Given the description of an element on the screen output the (x, y) to click on. 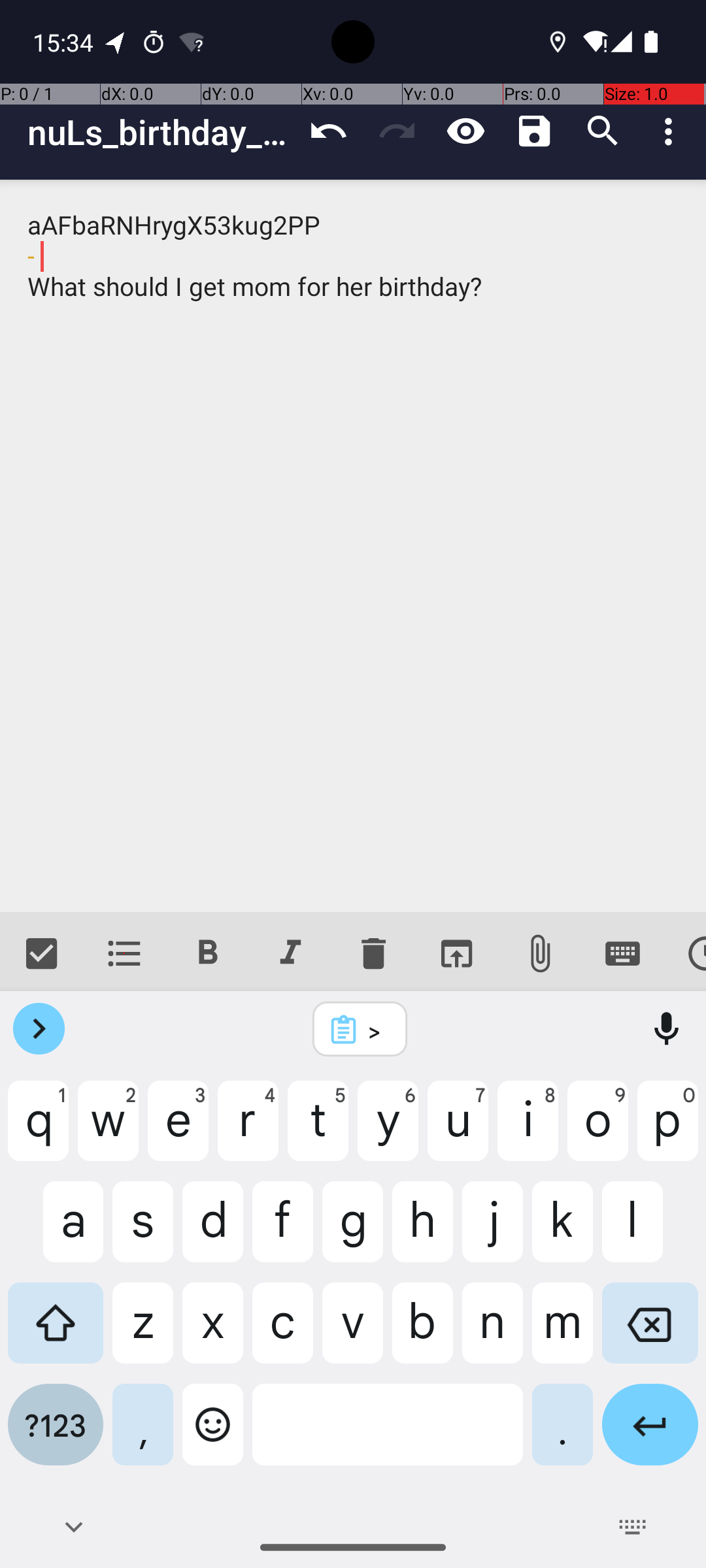
nuLs_birthday_gift_ideas_mom Element type: android.widget.TextView (160, 131)
aAFbaRNHrygX53kug2PP
- 
What should I get mom for her birthday? Element type: android.widget.EditText (353, 545)
>  Element type: android.widget.TextView (377, 1029)
